Given the description of an element on the screen output the (x, y) to click on. 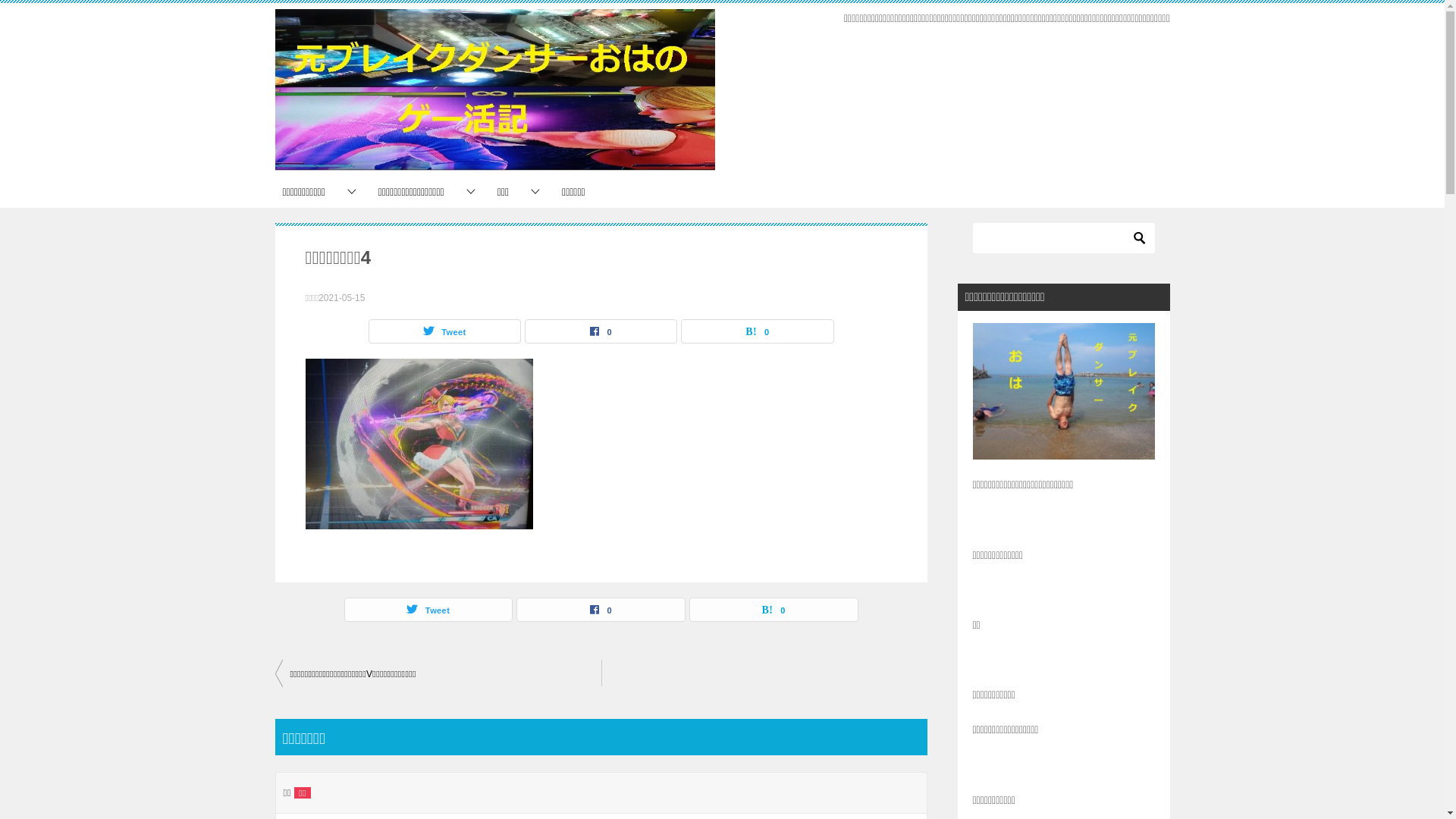
0 Element type: text (773, 609)
0 Element type: text (756, 331)
Tweet Element type: text (427, 609)
0 Element type: text (600, 331)
Tweet Element type: text (443, 331)
0 Element type: text (600, 609)
